Given the description of an element on the screen output the (x, y) to click on. 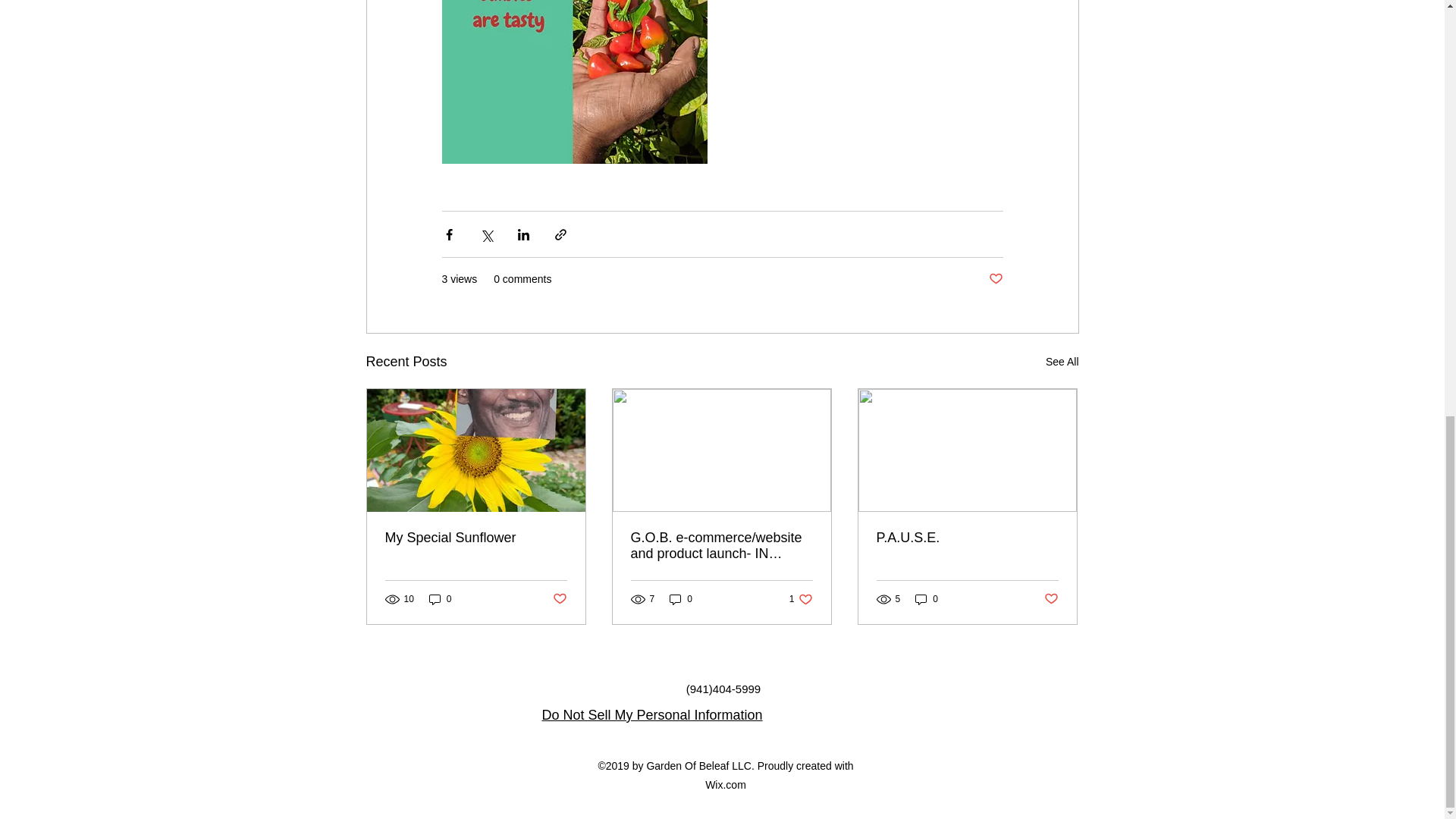
Post not marked as liked (995, 279)
My Special Sunflower (800, 598)
See All (476, 537)
0 (1061, 362)
Post not marked as liked (926, 598)
P.A.U.S.E. (558, 599)
0 (967, 537)
0 (440, 598)
